Given the description of an element on the screen output the (x, y) to click on. 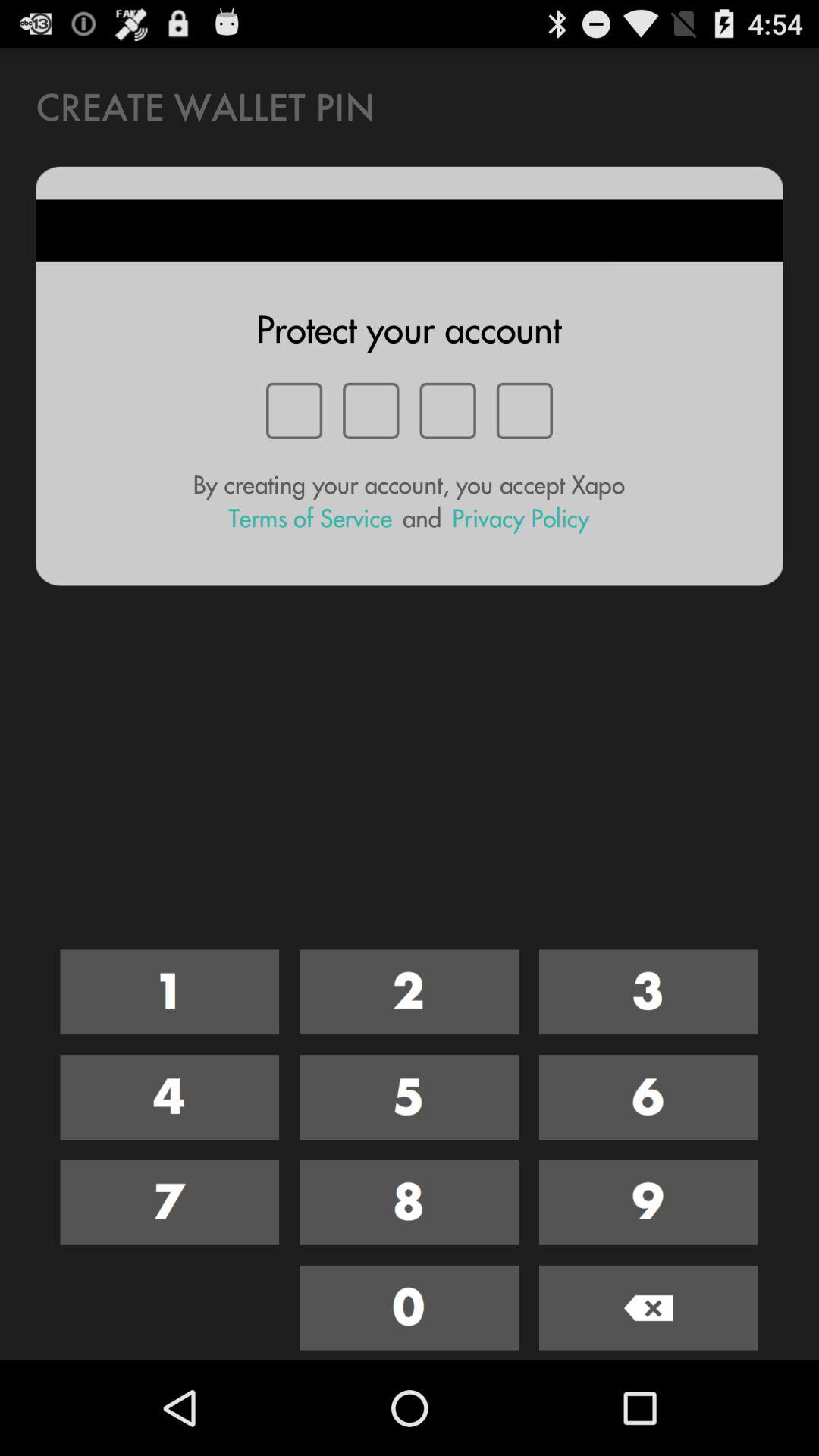
choose 0 (408, 1307)
